Given the description of an element on the screen output the (x, y) to click on. 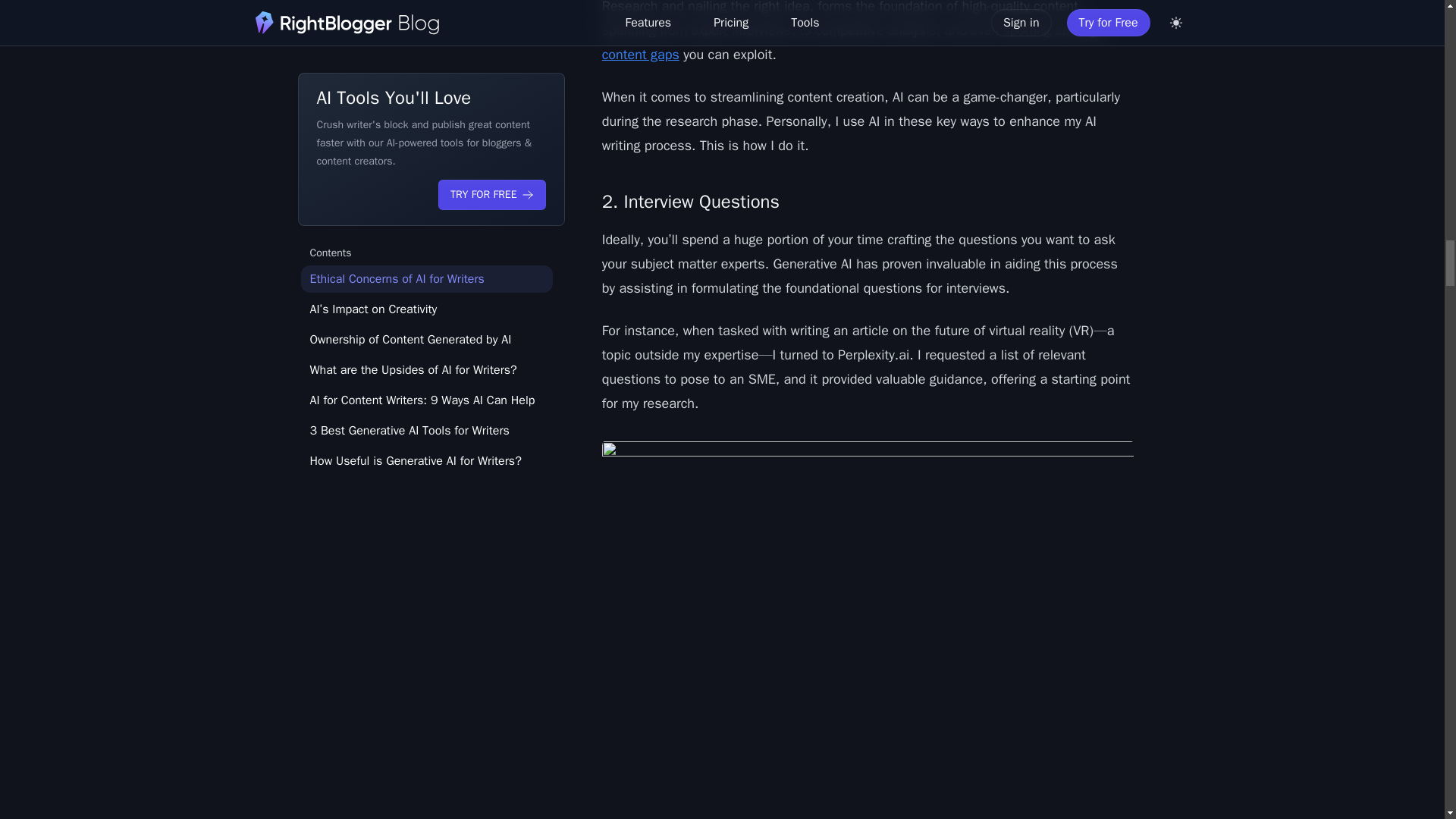
content gaps (640, 54)
